Given the description of an element on the screen output the (x, y) to click on. 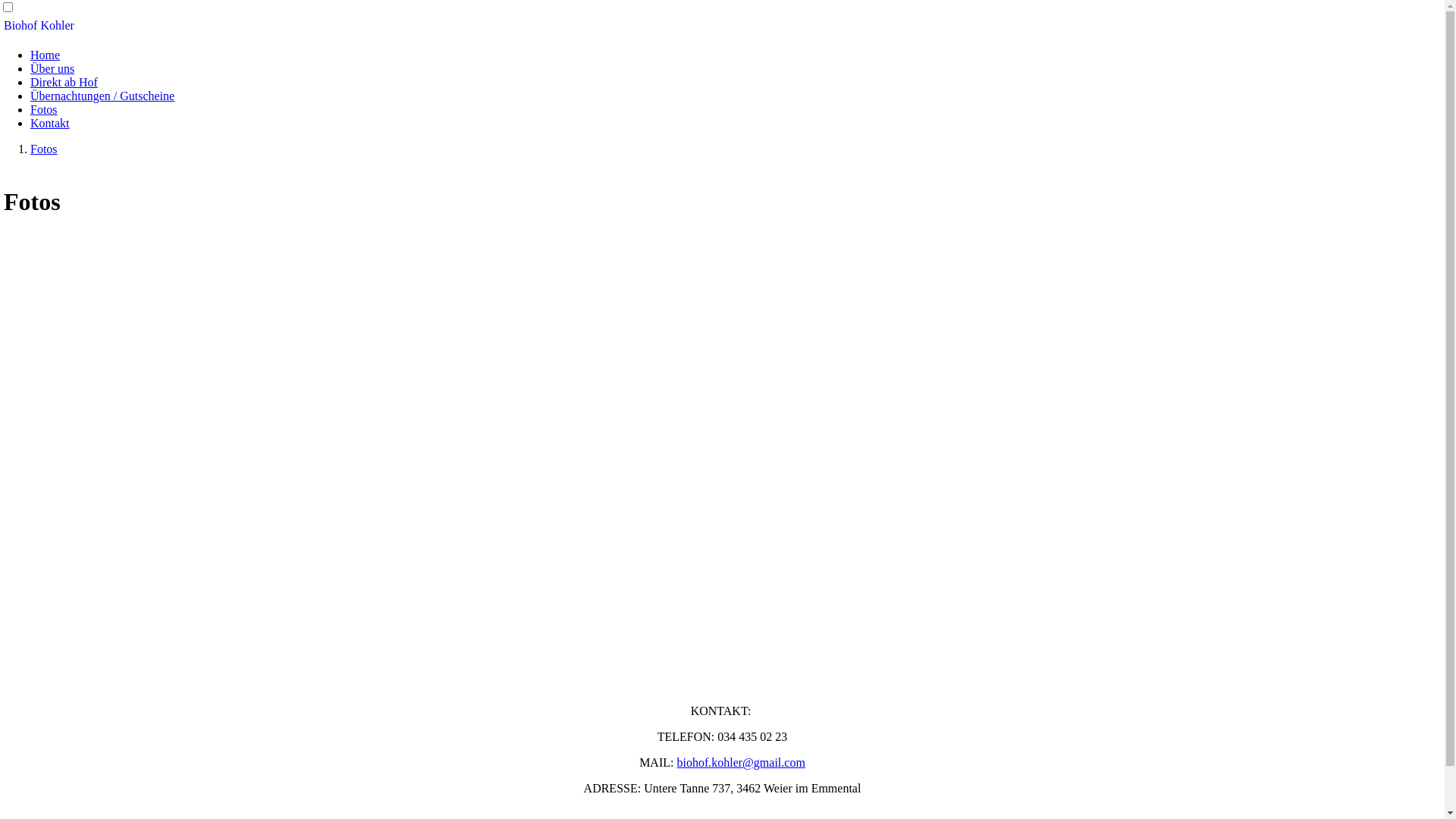
biohof.kohler@gmail.com Element type: text (740, 762)
Direkt ab Hof Element type: text (63, 81)
Home Element type: text (44, 54)
Fotos Element type: text (43, 148)
Kontakt Element type: text (49, 122)
Biohof Kohler Element type: text (38, 24)
Fotos Element type: text (43, 109)
